Given the description of an element on the screen output the (x, y) to click on. 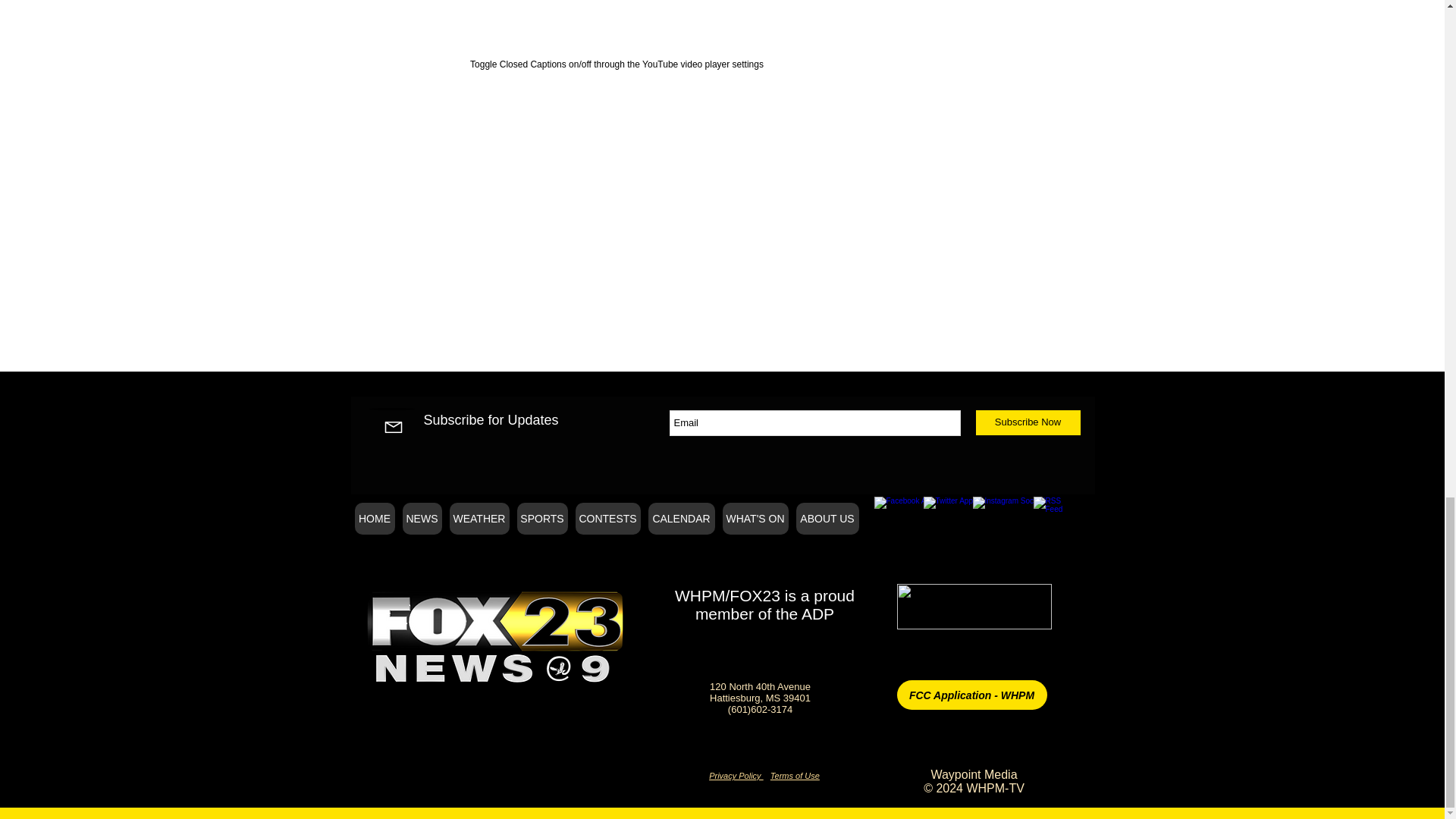
RSS Feed (1053, 514)
Subscribe Now (1027, 422)
